Given the description of an element on the screen output the (x, y) to click on. 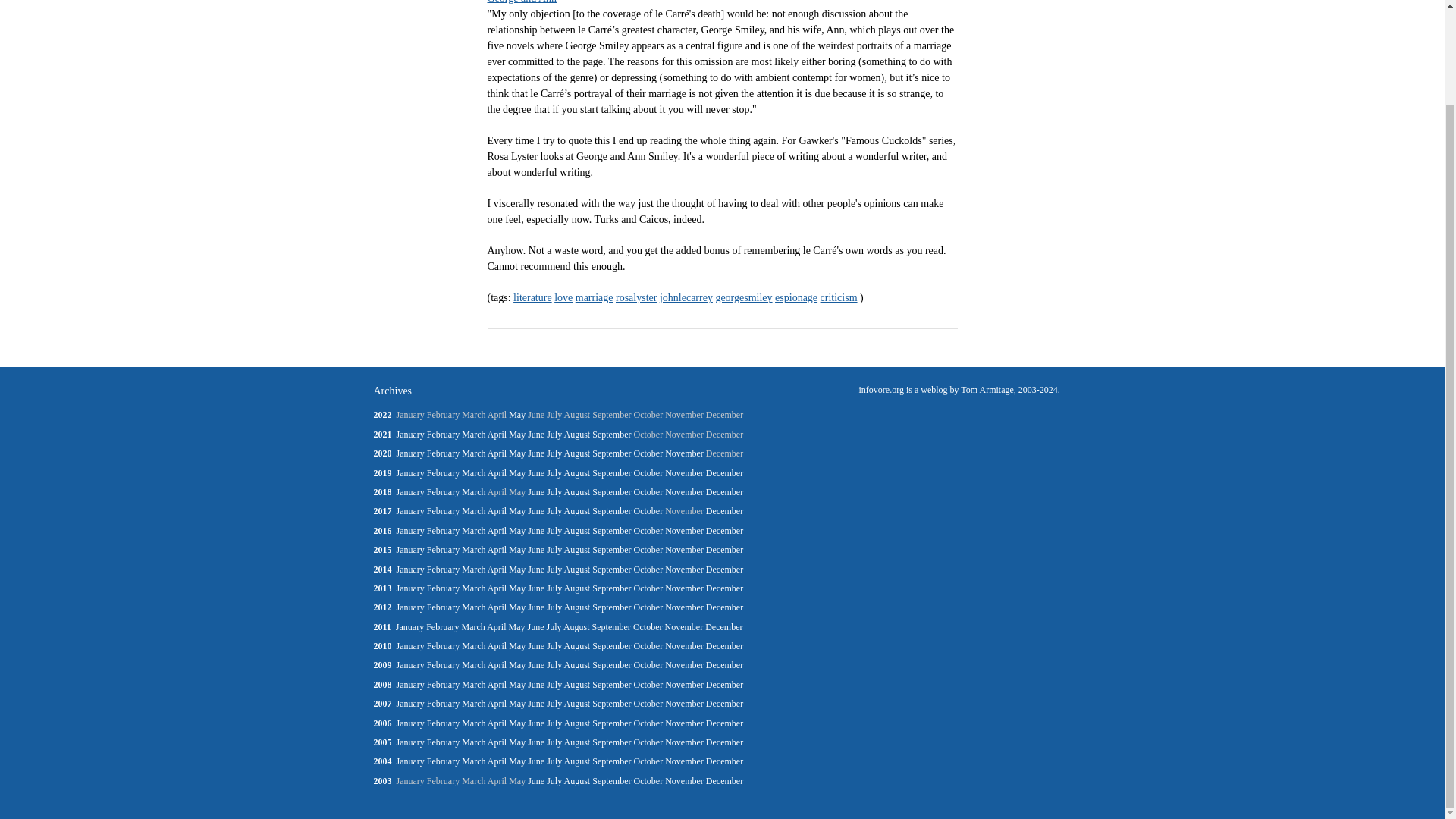
February (443, 434)
espionage (795, 297)
February 2020 (443, 452)
January (409, 452)
January 2021 (409, 434)
georgesmiley (742, 297)
August 2020 (577, 452)
rosalyster (635, 297)
June (535, 434)
love (563, 297)
March (472, 434)
November (684, 452)
marriage (593, 297)
May 2021 (516, 434)
literature (532, 297)
